Given the description of an element on the screen output the (x, y) to click on. 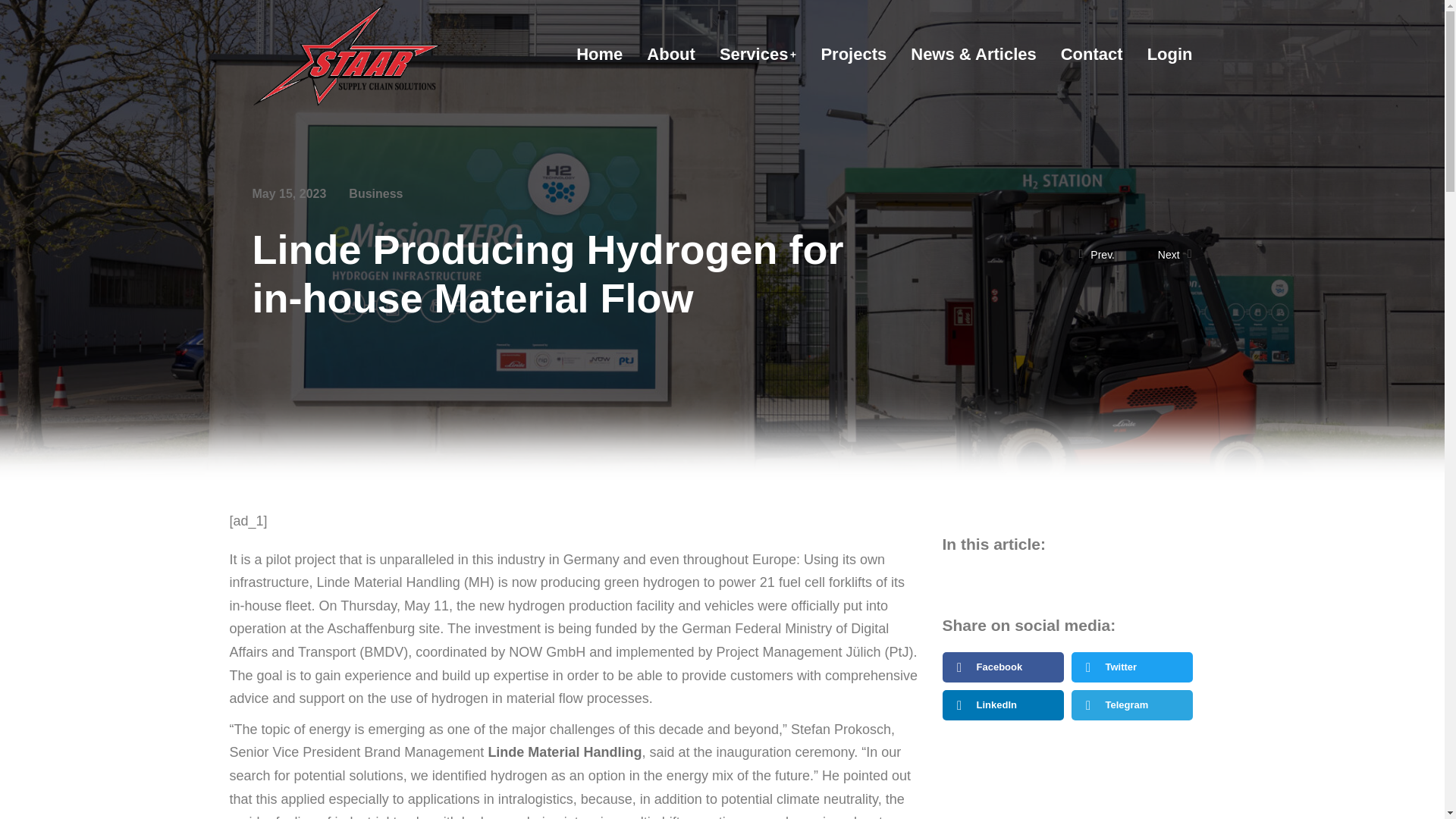
Projects (853, 54)
Linde Material Handling (564, 752)
Services (757, 54)
Business (376, 193)
Prev. (1106, 254)
About (670, 54)
Next (1163, 254)
Contact (1091, 54)
Home (599, 54)
Login (1169, 54)
